Given the description of an element on the screen output the (x, y) to click on. 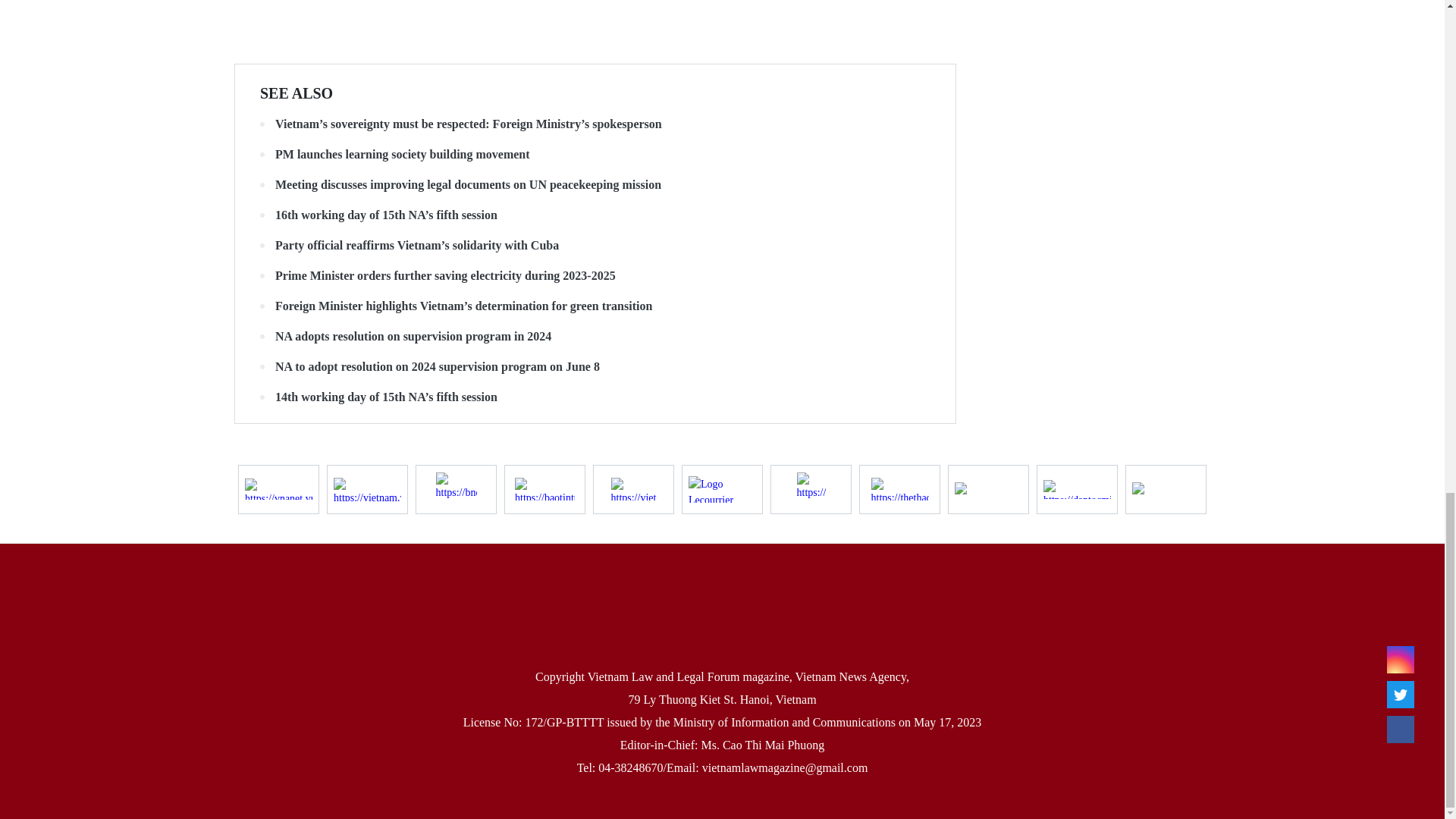
SEE ALSO (296, 93)
NA adopts resolution on supervision program in 2024 (595, 336)
PM launches learning society building movement (595, 154)
